Given the description of an element on the screen output the (x, y) to click on. 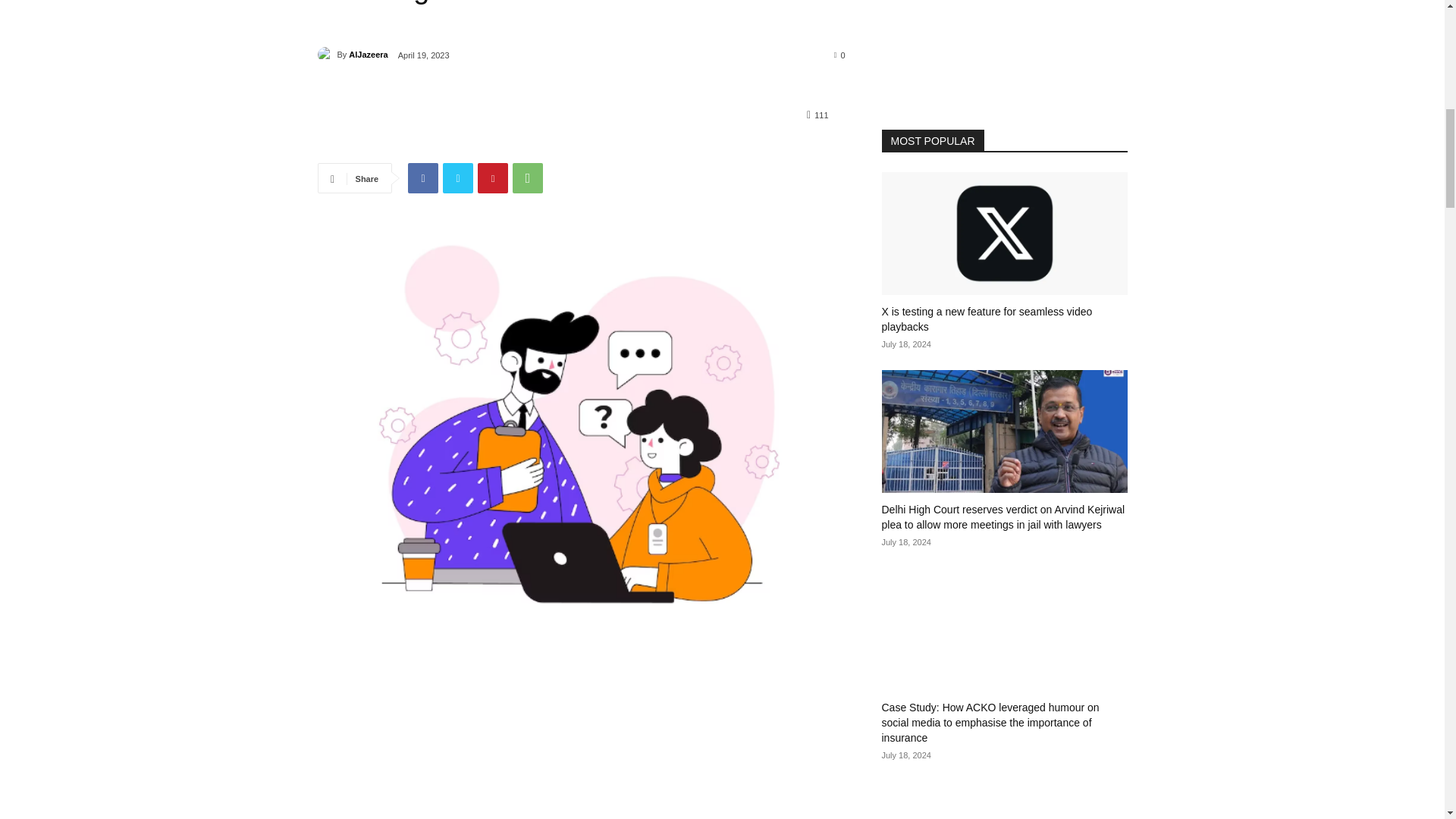
0 (839, 53)
Pinterest (492, 177)
Facebook (422, 177)
AlJazeera (368, 54)
AlJazeera (326, 54)
Twitter (457, 177)
